Given the description of an element on the screen output the (x, y) to click on. 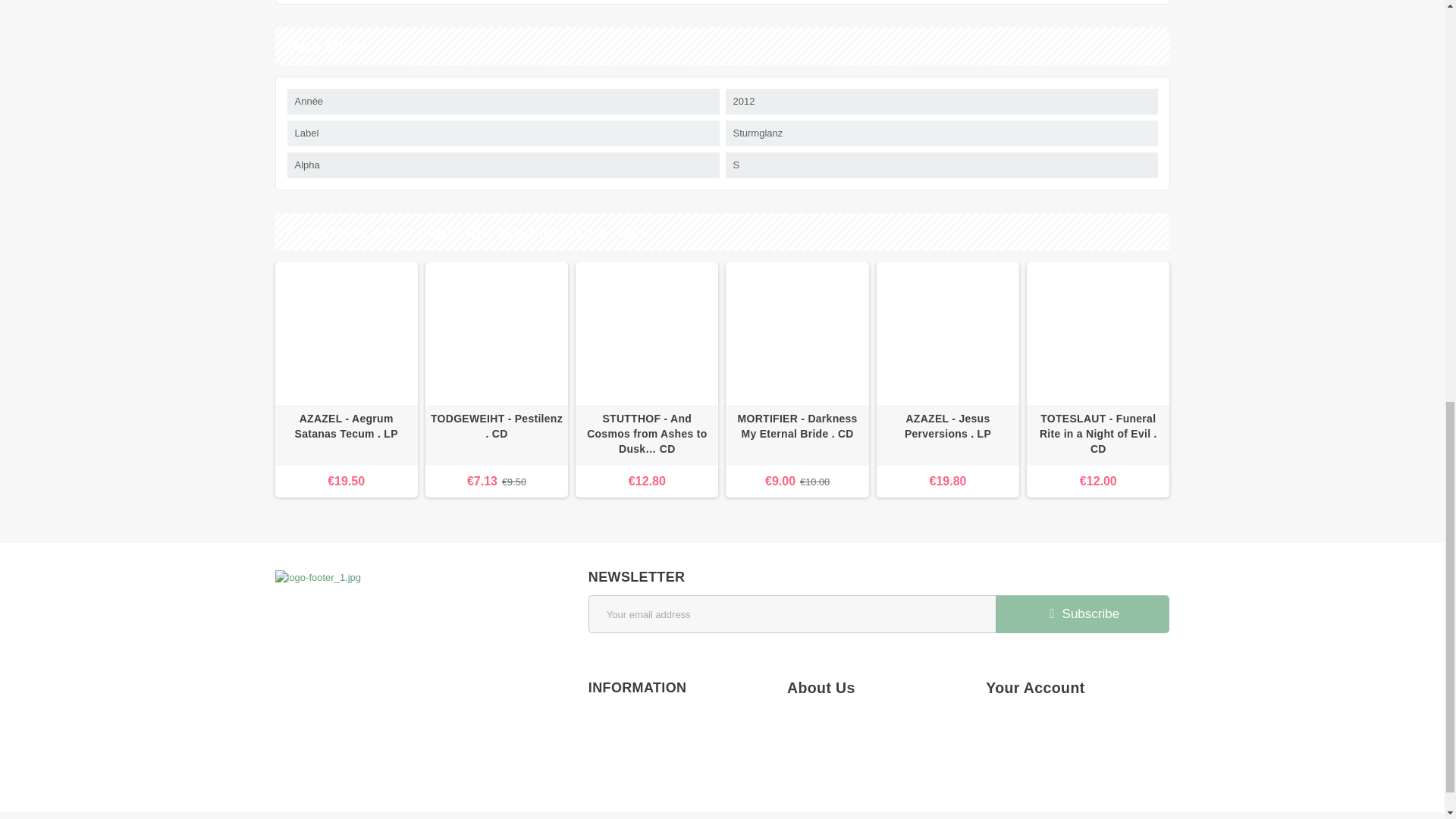
MORTIFIER - Darkness My Eternal Bride . CD (796, 426)
TODGEWEIHT - Pestilenz . CD (496, 426)
TODGEWEIHT - Pestilenz . CD (496, 435)
TODGEWEIHT - Pestilenz . CD (496, 333)
AZAZEL - Aegrum Satanas Tecum . LP (346, 426)
MORTIFIER - Darkness My Eternal Bride . CD (796, 333)
AZAZEL - Jesus Perversions . LP (947, 333)
AZAZEL - Aegrum Satanas Tecum . LP (345, 333)
AZAZEL - Aegrum Satanas Tecum . LP (345, 435)
TOTESLAUT - Funeral Rite in a Night of Evil . CD (1097, 435)
AZAZEL - Jesus Perversions . LP (947, 426)
MORTIFIER - Darkness My Eternal Bride . CD (796, 435)
TOTESLAUT - Funeral Rite in a Night of Evil . CD (1098, 433)
TOTESLAUT - Funeral Rite in a Night of Evil . CD (1097, 333)
AZAZEL - Jesus Perversions . LP (947, 435)
